Given the description of an element on the screen output the (x, y) to click on. 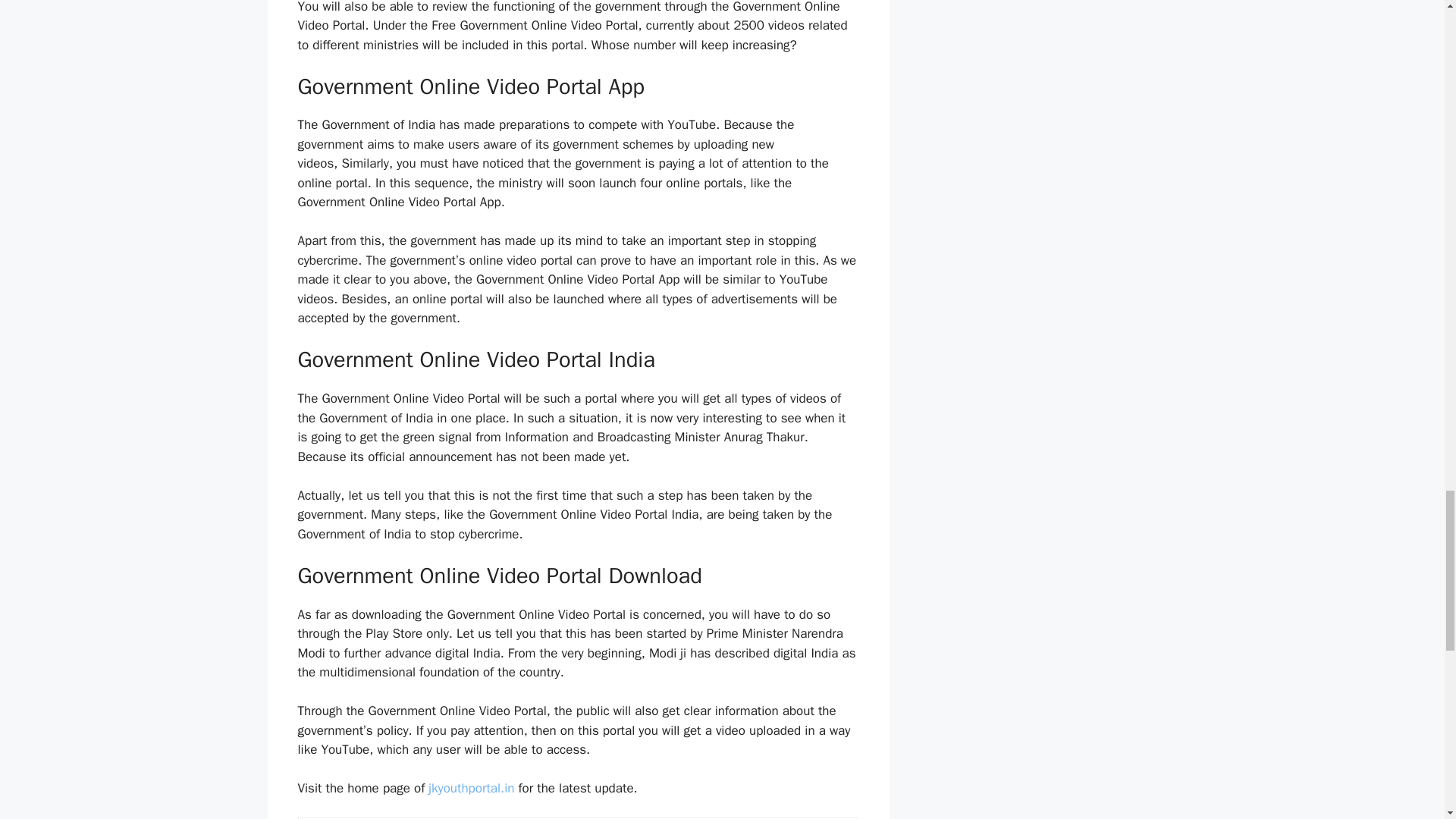
jkyouthportal.in (470, 788)
